Given the description of an element on the screen output the (x, y) to click on. 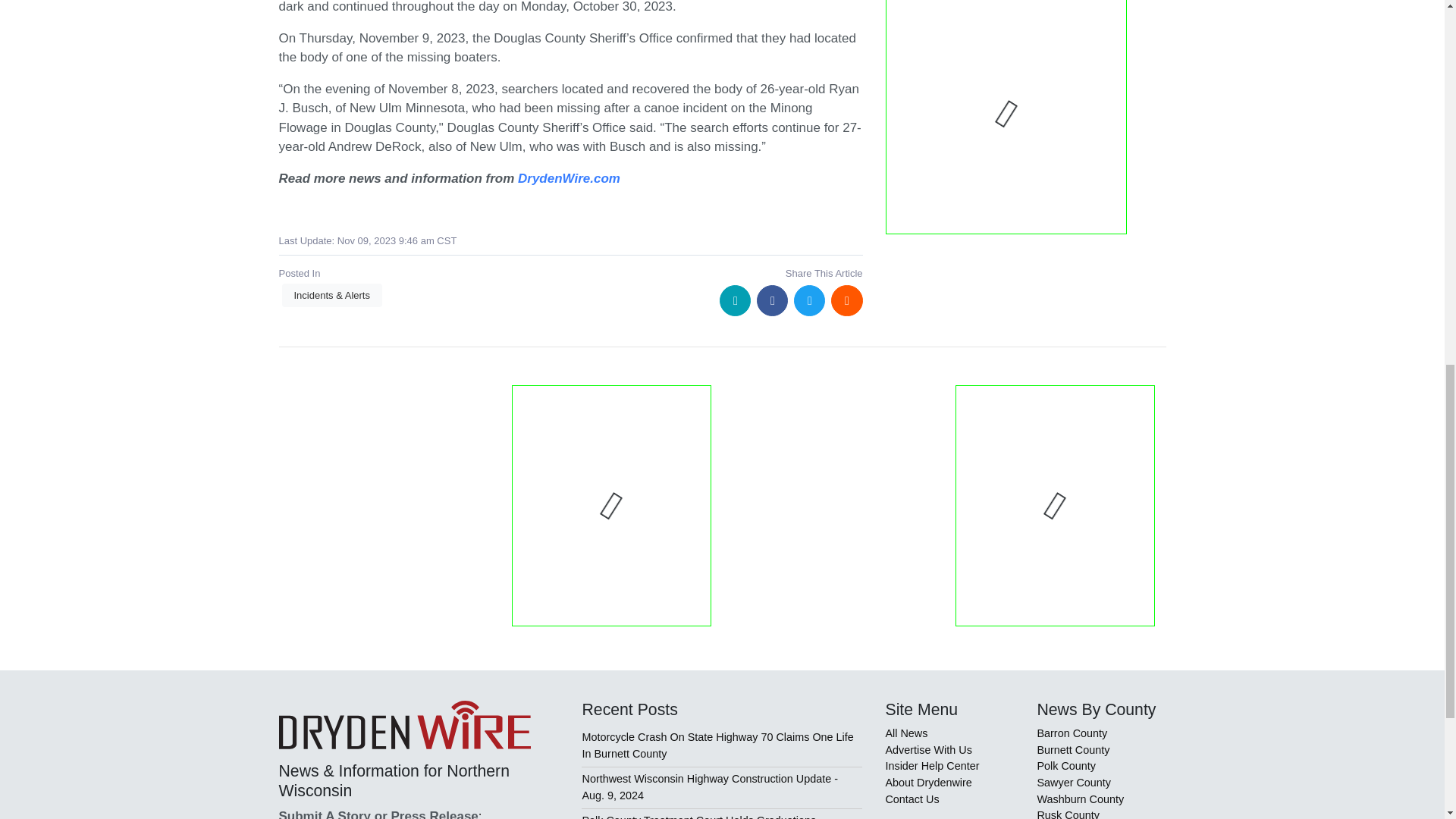
twitter (809, 300)
email (735, 300)
facebook (772, 300)
reddit (846, 300)
